Given the description of an element on the screen output the (x, y) to click on. 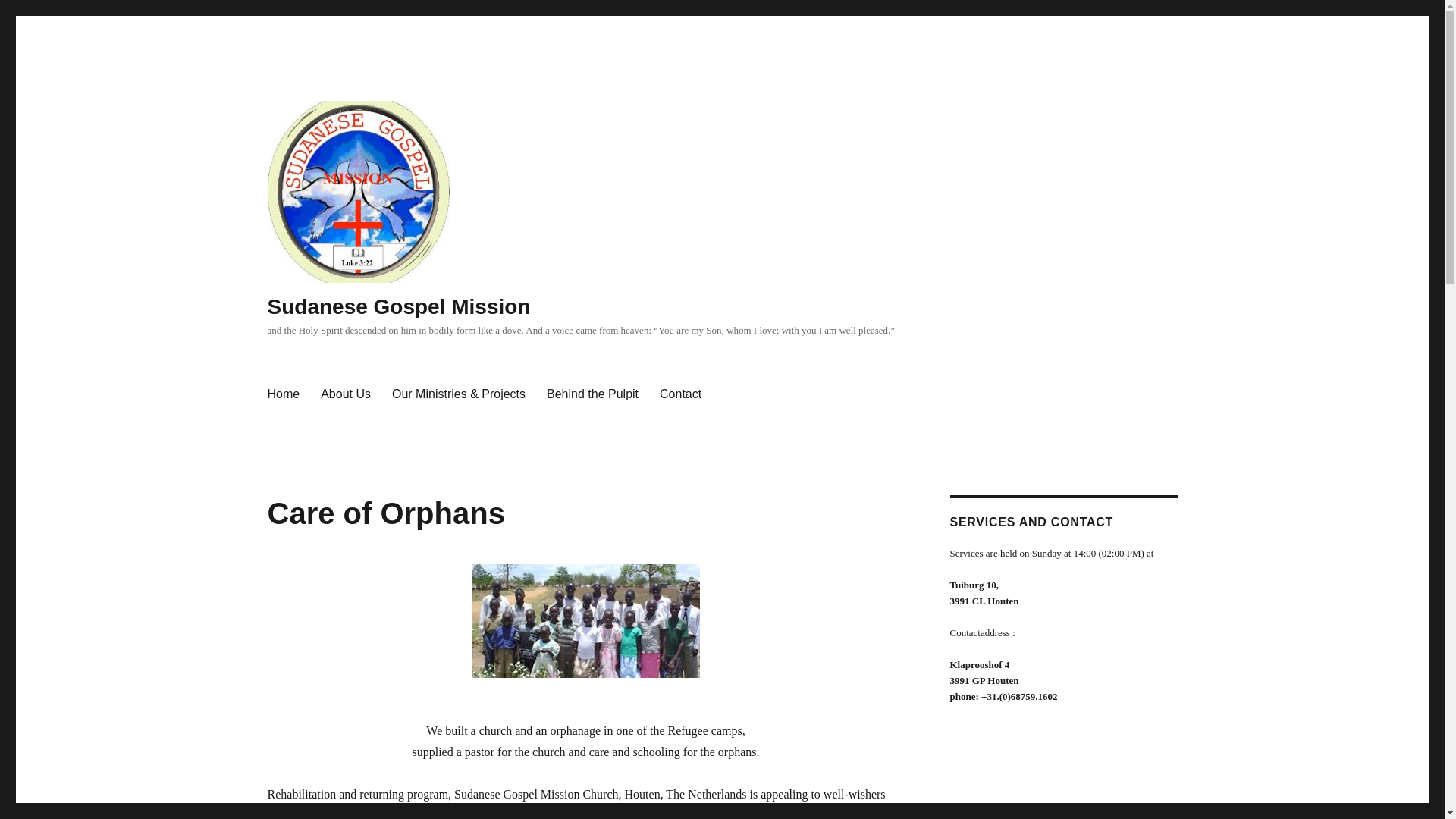
Home (283, 394)
About Us (345, 394)
Sudanese Gospel Mission (397, 306)
Contact (680, 394)
Behind the Pulpit (592, 394)
